Given the description of an element on the screen output the (x, y) to click on. 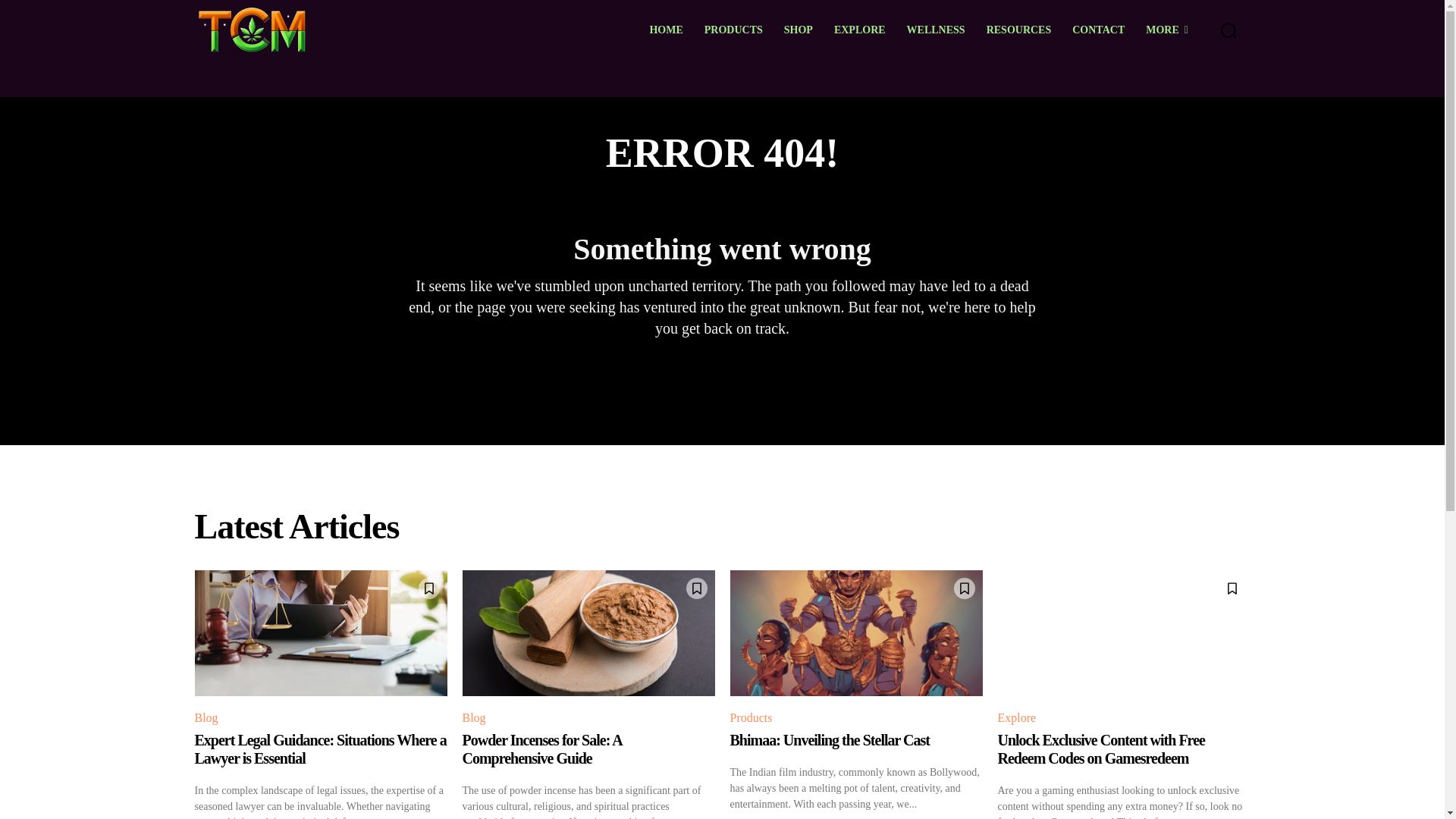
PRODUCTS (733, 30)
Bhimaa: Unveiling the Stellar Cast (855, 633)
Powder Incenses for Sale: A Comprehensive Guide (543, 749)
HOME (666, 30)
CONTACT (1098, 30)
Bhimaa: Unveiling the Stellar Cast (828, 740)
MORE (1166, 30)
EXPLORE (860, 30)
WELLNESS (935, 30)
Blog (207, 718)
RESOURCES (1018, 30)
